Given the description of an element on the screen output the (x, y) to click on. 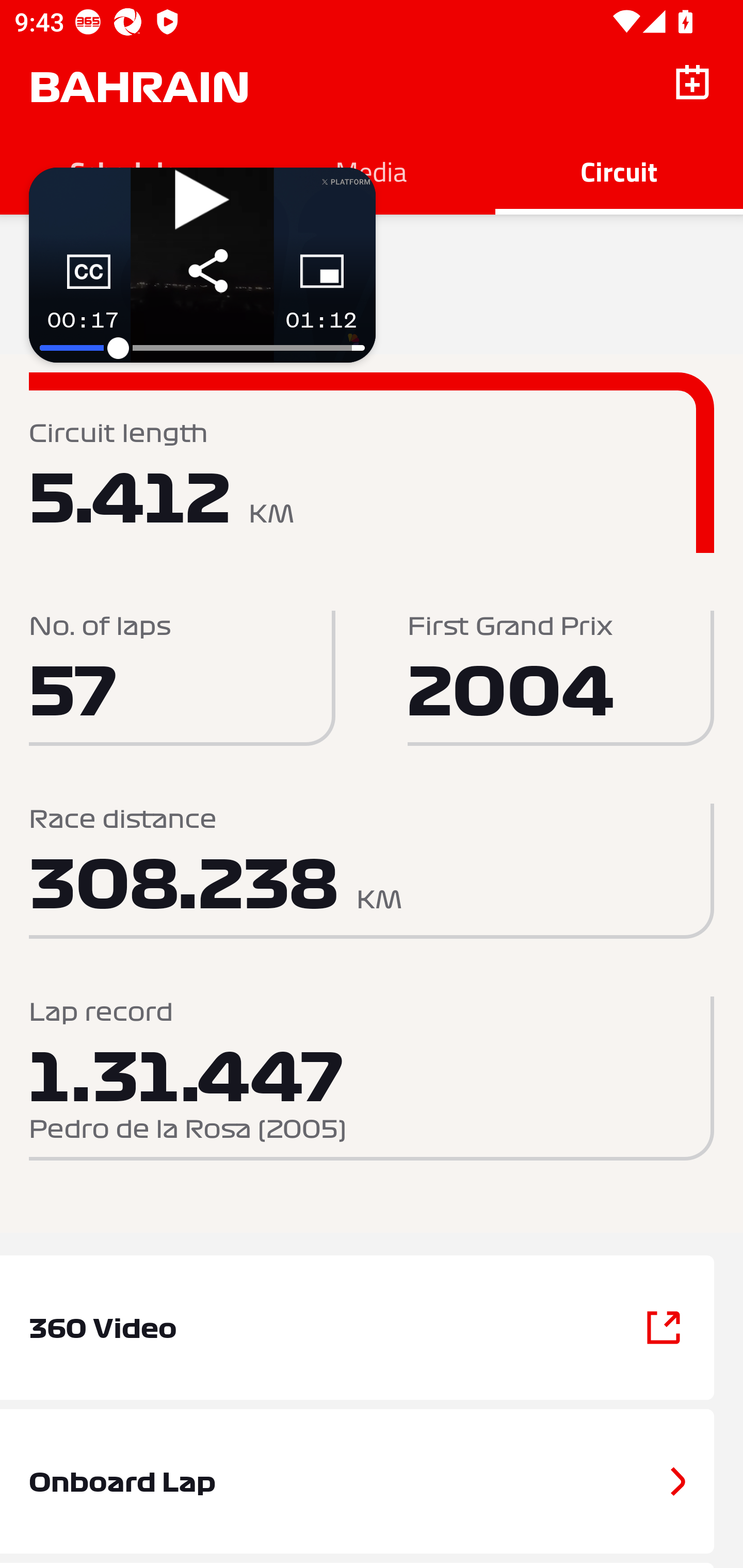
360 Video. Double click to open 360 Video (371, 1327)
Onboard Lap. Double click to open Onboard Lap (371, 1481)
